Given the description of an element on the screen output the (x, y) to click on. 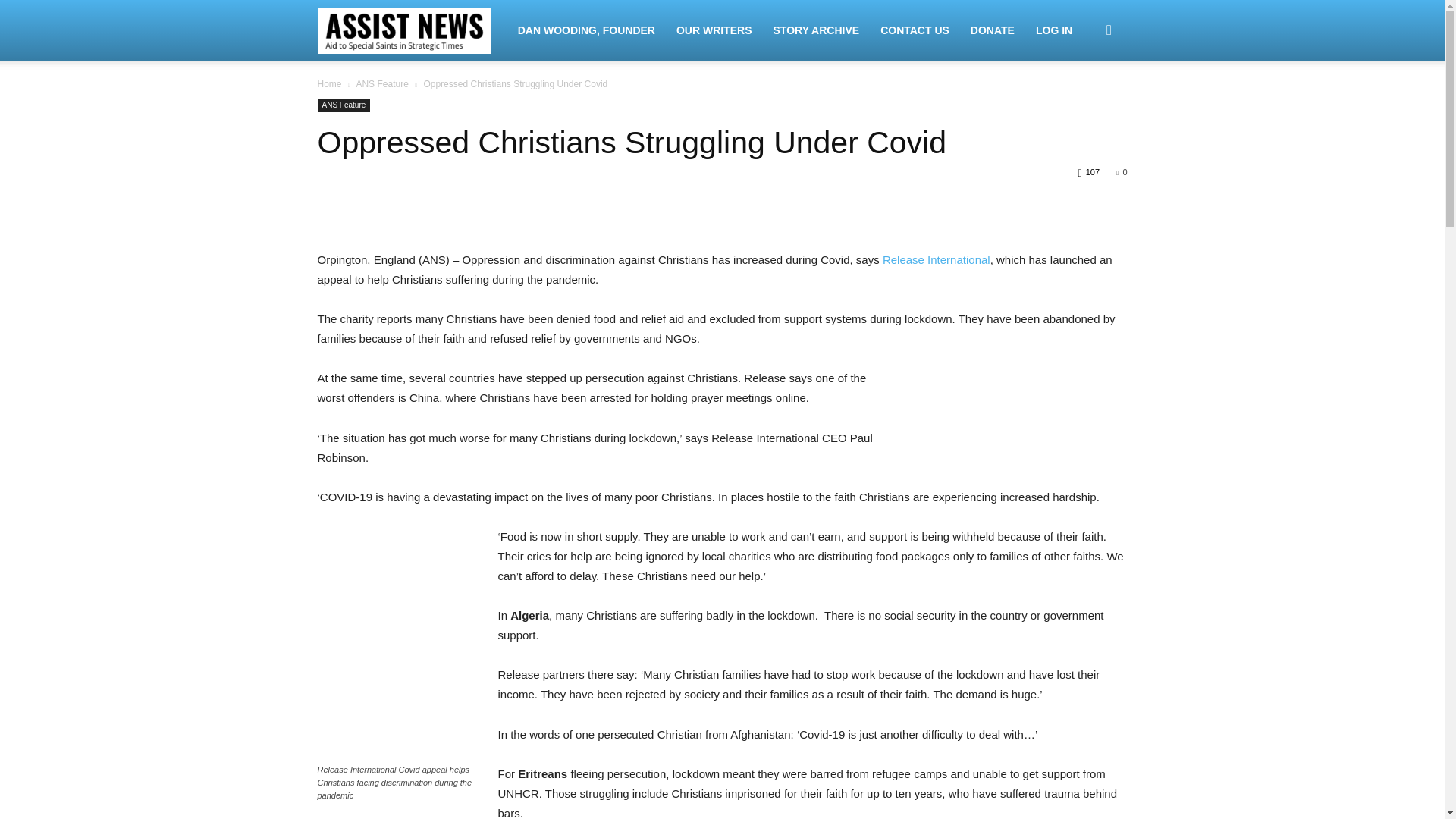
View all posts in ANS Feature (381, 83)
LOG IN (1054, 30)
CONTACT US (914, 30)
STORY ARCHIVE (816, 30)
DAN WOODING, FOUNDER (585, 30)
ASSIST NEWS (411, 30)
Search (1085, 102)
ANS Feature (343, 105)
OUR WRITERS (713, 30)
ANS Feature (381, 83)
